Given the description of an element on the screen output the (x, y) to click on. 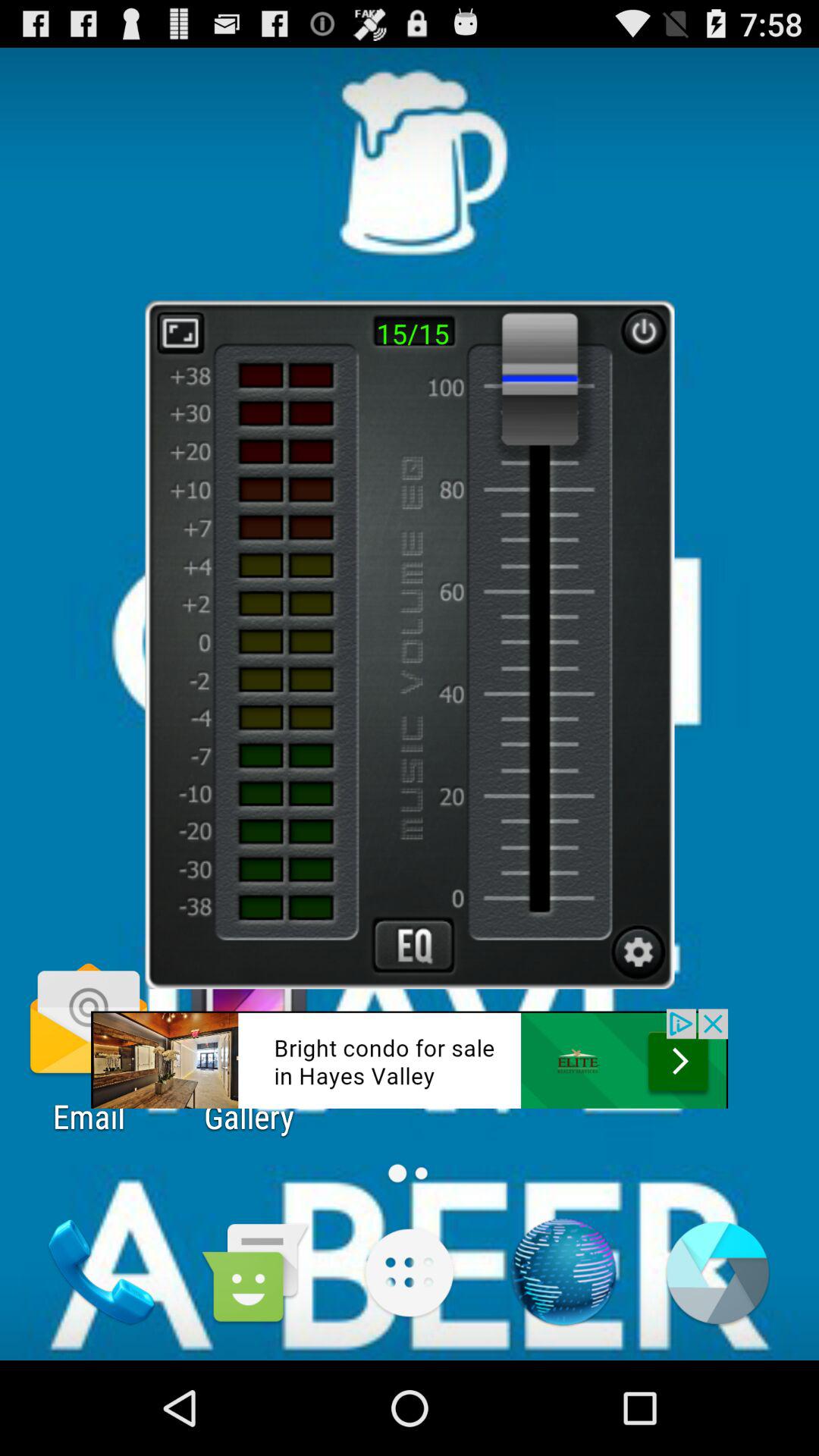
shudown button (643, 331)
